Given the description of an element on the screen output the (x, y) to click on. 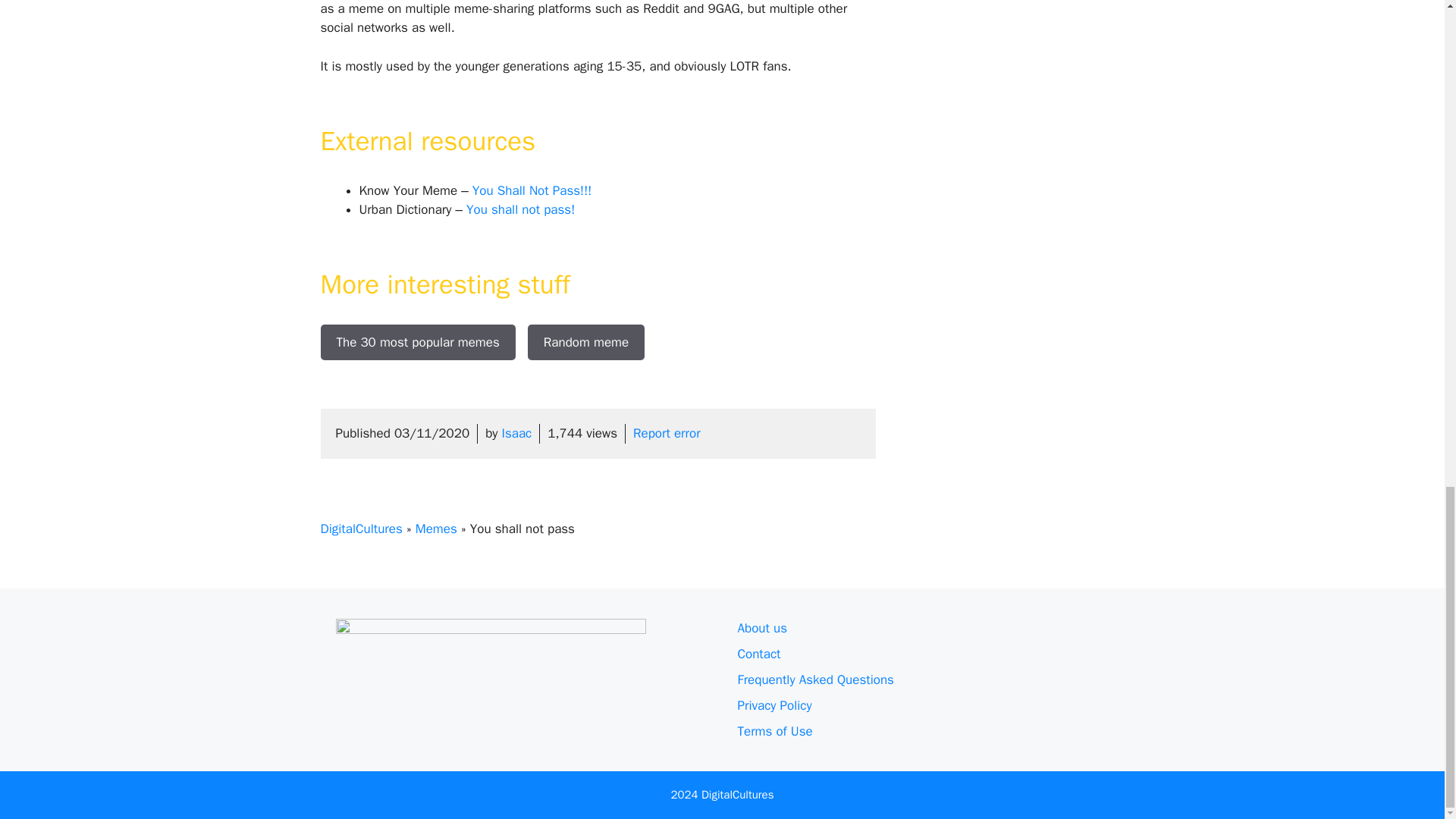
DigitalCultures (360, 528)
Isaac (517, 433)
The 30 most popular memes (417, 341)
Random meme (586, 341)
You Shall Not Pass!!! (531, 190)
You shall not pass! (520, 209)
Report error (666, 433)
Memes (435, 528)
